Given the description of an element on the screen output the (x, y) to click on. 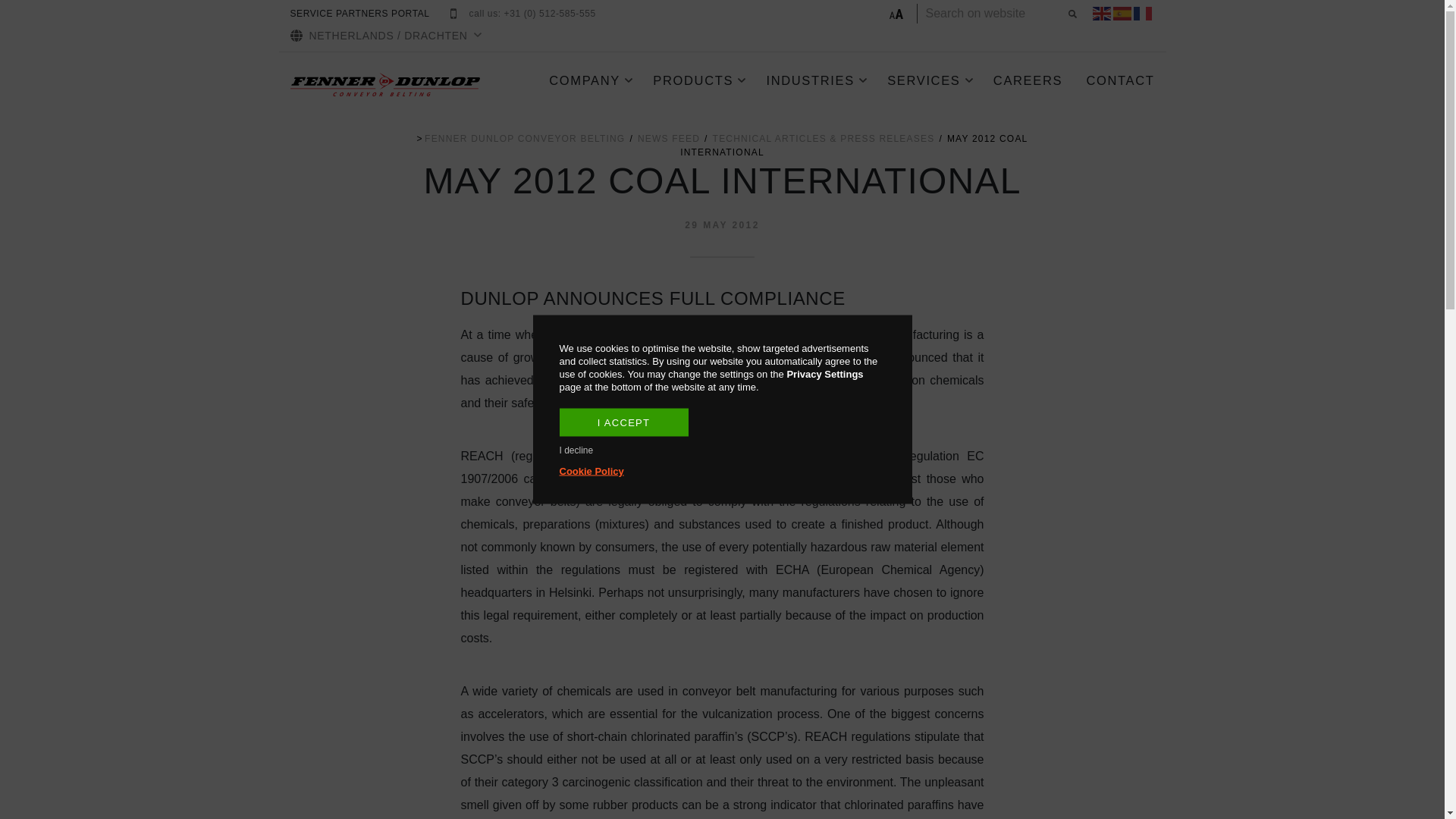
INDUSTRIES (815, 80)
Go to News Feed. (668, 138)
Dunlop CB (524, 138)
COMPANY (589, 80)
SERVICE PARTNERS PORTAL (359, 13)
English (1101, 13)
PRODUCTS (698, 80)
